Given the description of an element on the screen output the (x, y) to click on. 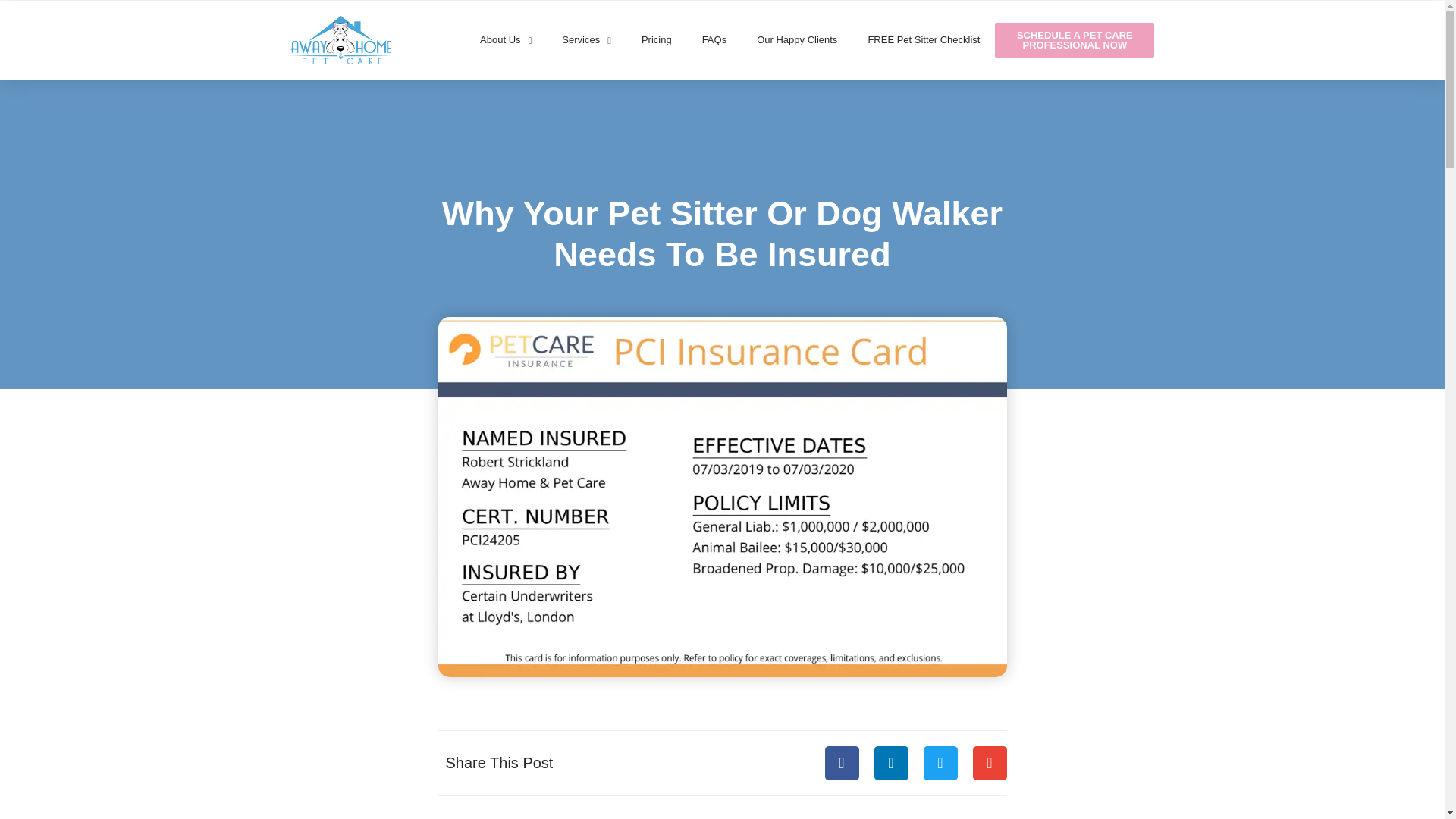
Pricing (656, 39)
SCHEDULE A PET CARE PROFESSIONAL NOW (1074, 39)
FAQs (714, 39)
FREE Pet Sitter Checklist (922, 39)
Our Happy Clients (796, 39)
Services (586, 39)
About Us (505, 39)
